Given the description of an element on the screen output the (x, y) to click on. 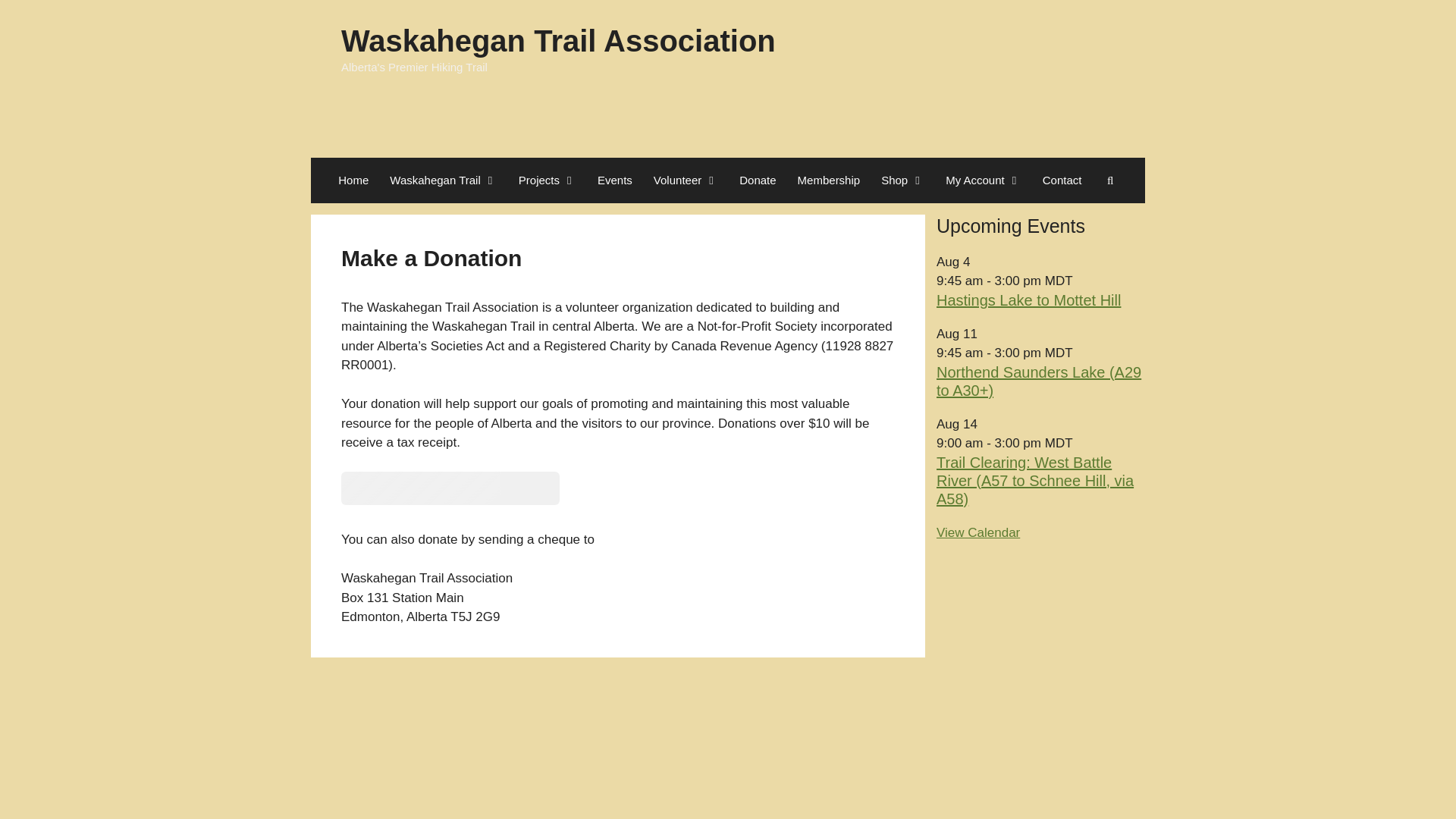
Hastings Lake to Mottet Hill (1028, 299)
Waskahegan Trail (443, 180)
Waskahegan Trail Association (558, 40)
View more events. (978, 531)
Home (352, 180)
